Given the description of an element on the screen output the (x, y) to click on. 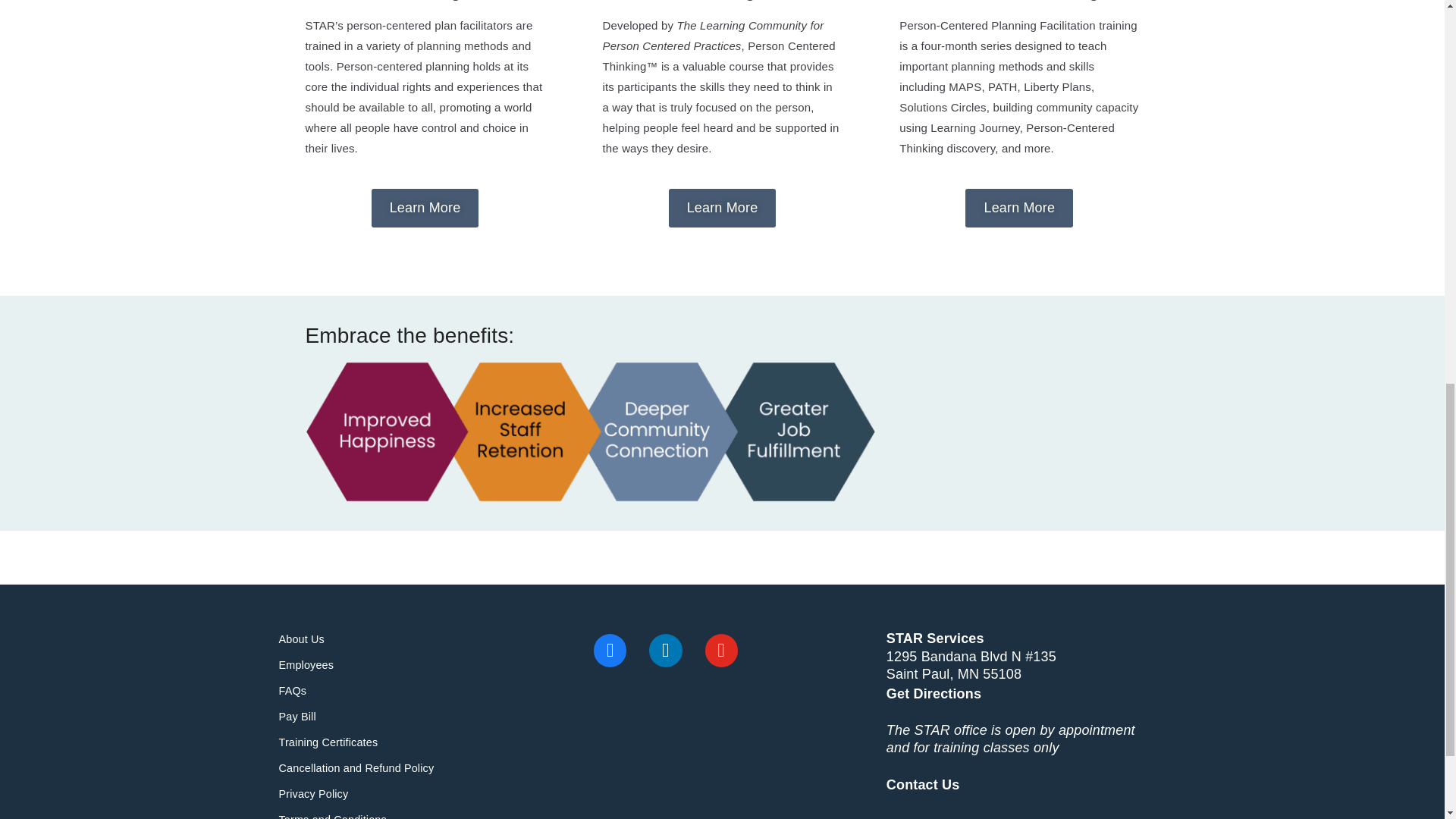
Facebook (609, 649)
Youtube (721, 649)
Linkedin (665, 649)
